Given the description of an element on the screen output the (x, y) to click on. 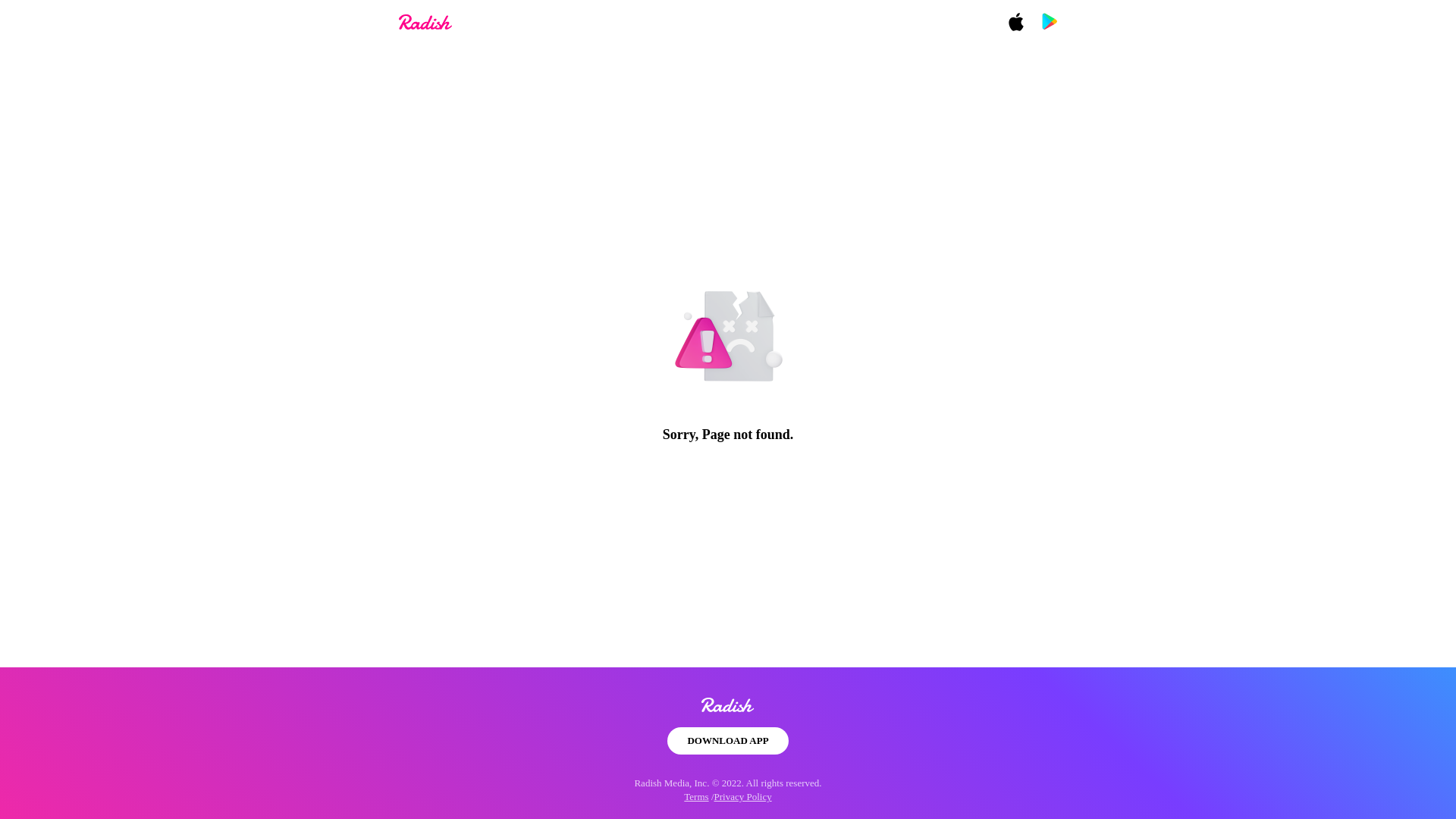
DOWNLOAD APP (726, 740)
Terms (695, 796)
Privacy Policy (742, 796)
